Given the description of an element on the screen output the (x, y) to click on. 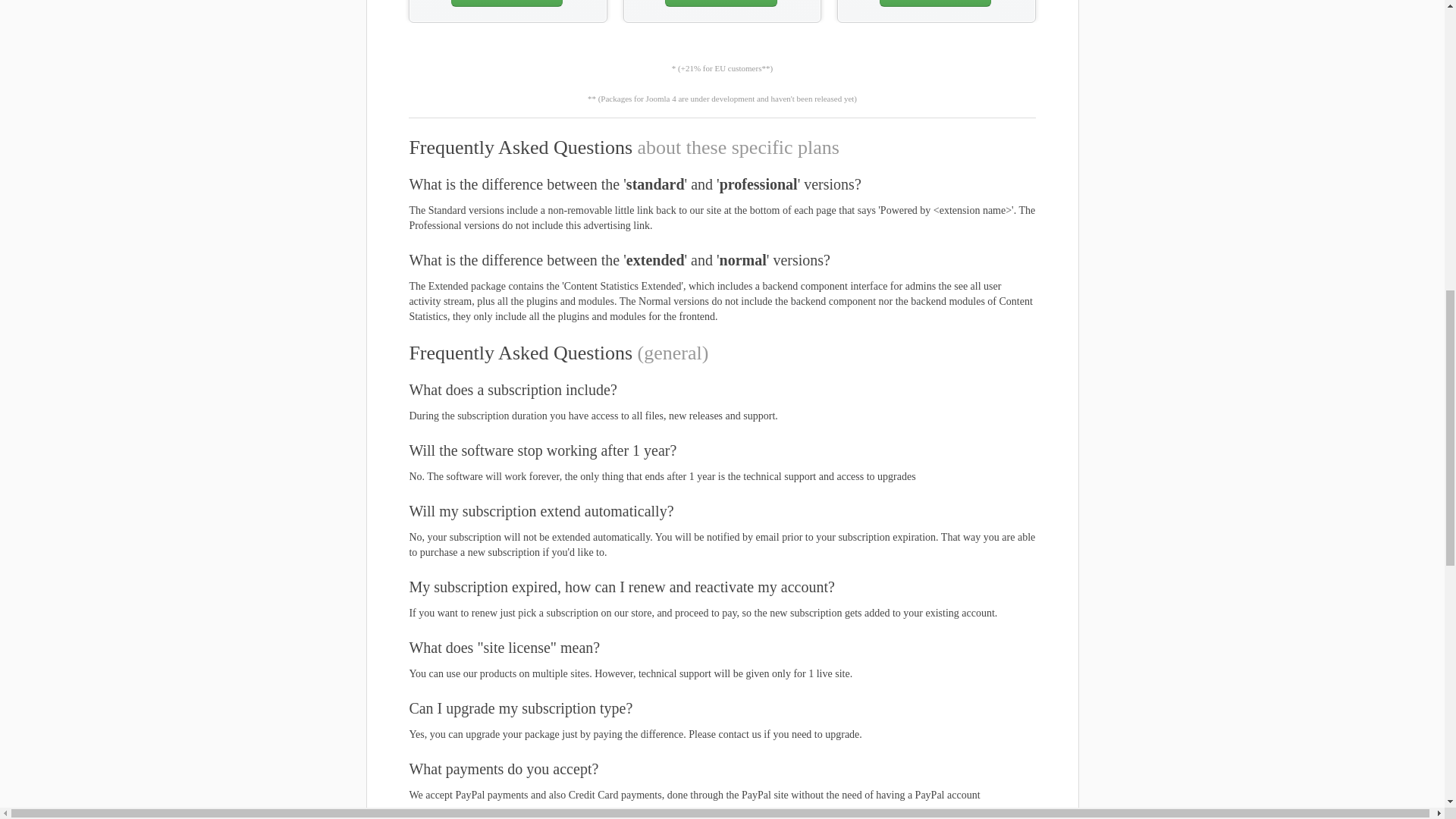
Subscribe Now (935, 3)
Subscribe Now (506, 3)
Subscribe Now (720, 3)
